Given the description of an element on the screen output the (x, y) to click on. 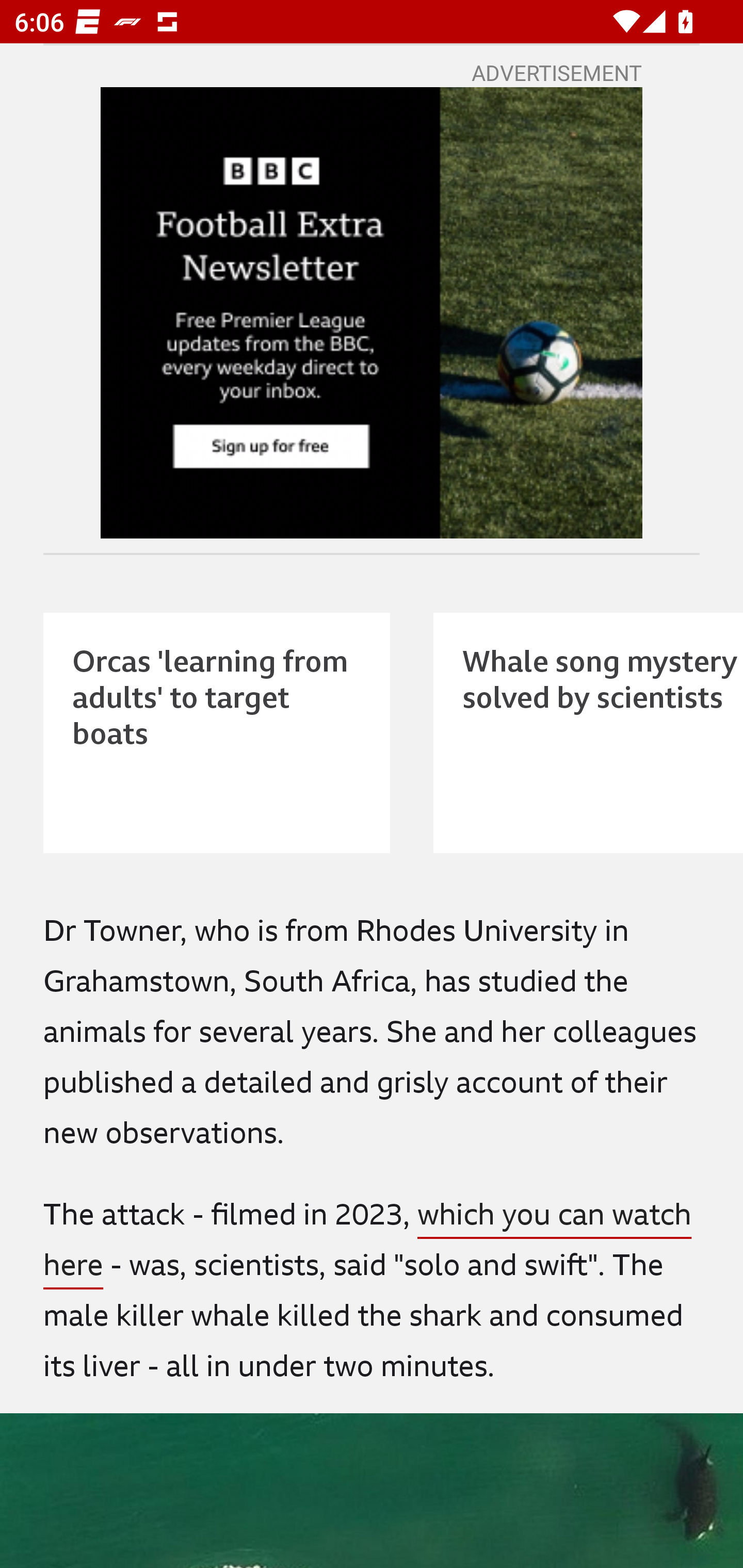
Orcas 'learning from adults' to target boats (216, 732)
Whale song mystery solved by scientists (588, 732)
